Given the description of an element on the screen output the (x, y) to click on. 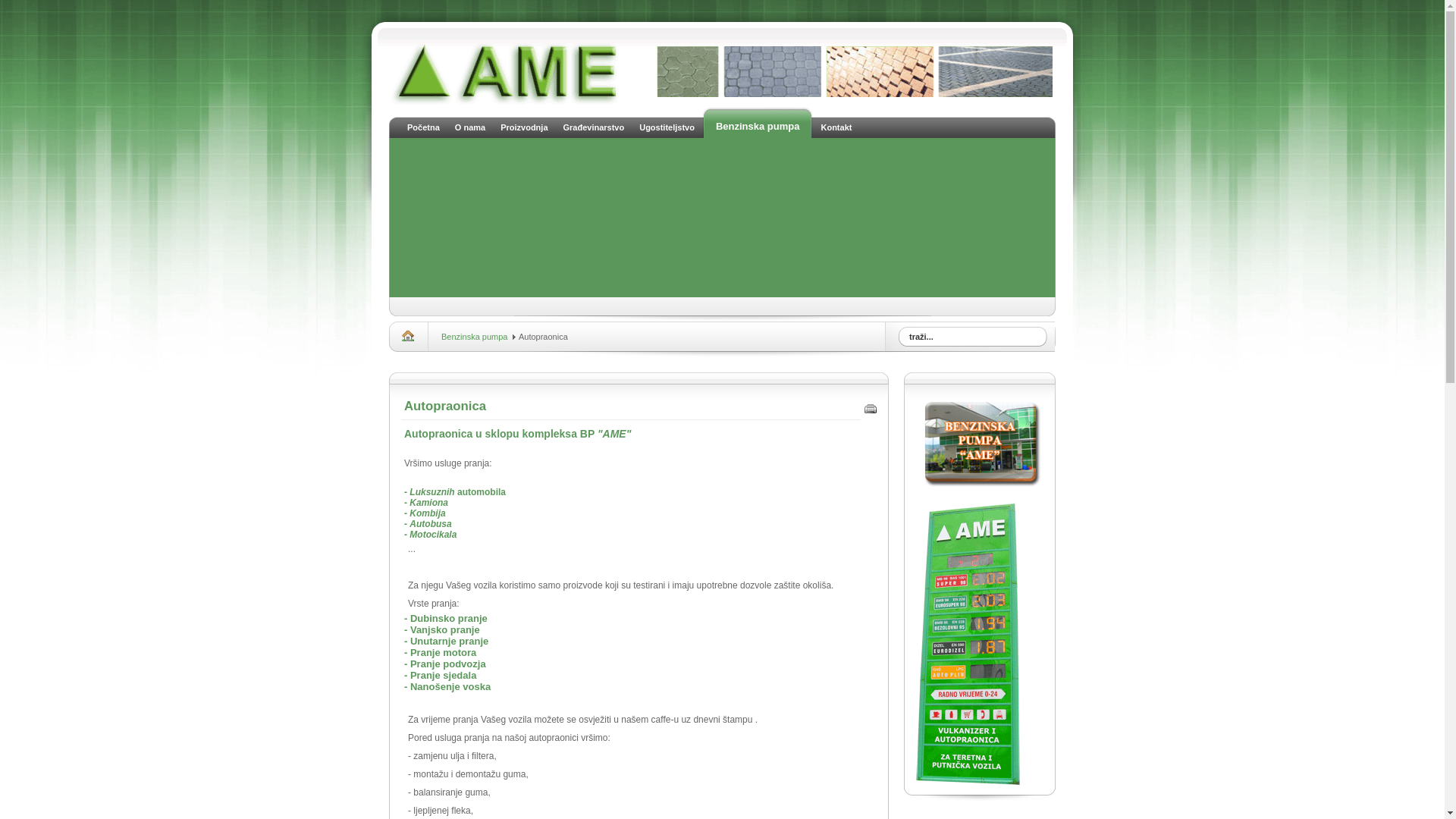
O nama Element type: text (469, 122)
Ugostiteljstvo Element type: text (666, 122)
Kontakt Element type: text (835, 122)
Proizvodnja Element type: text (523, 122)
Benzinska pumpa Element type: text (474, 336)
Benzinska pumpa Element type: text (757, 121)
Ispis Element type: hover (870, 411)
